Given the description of an element on the screen output the (x, y) to click on. 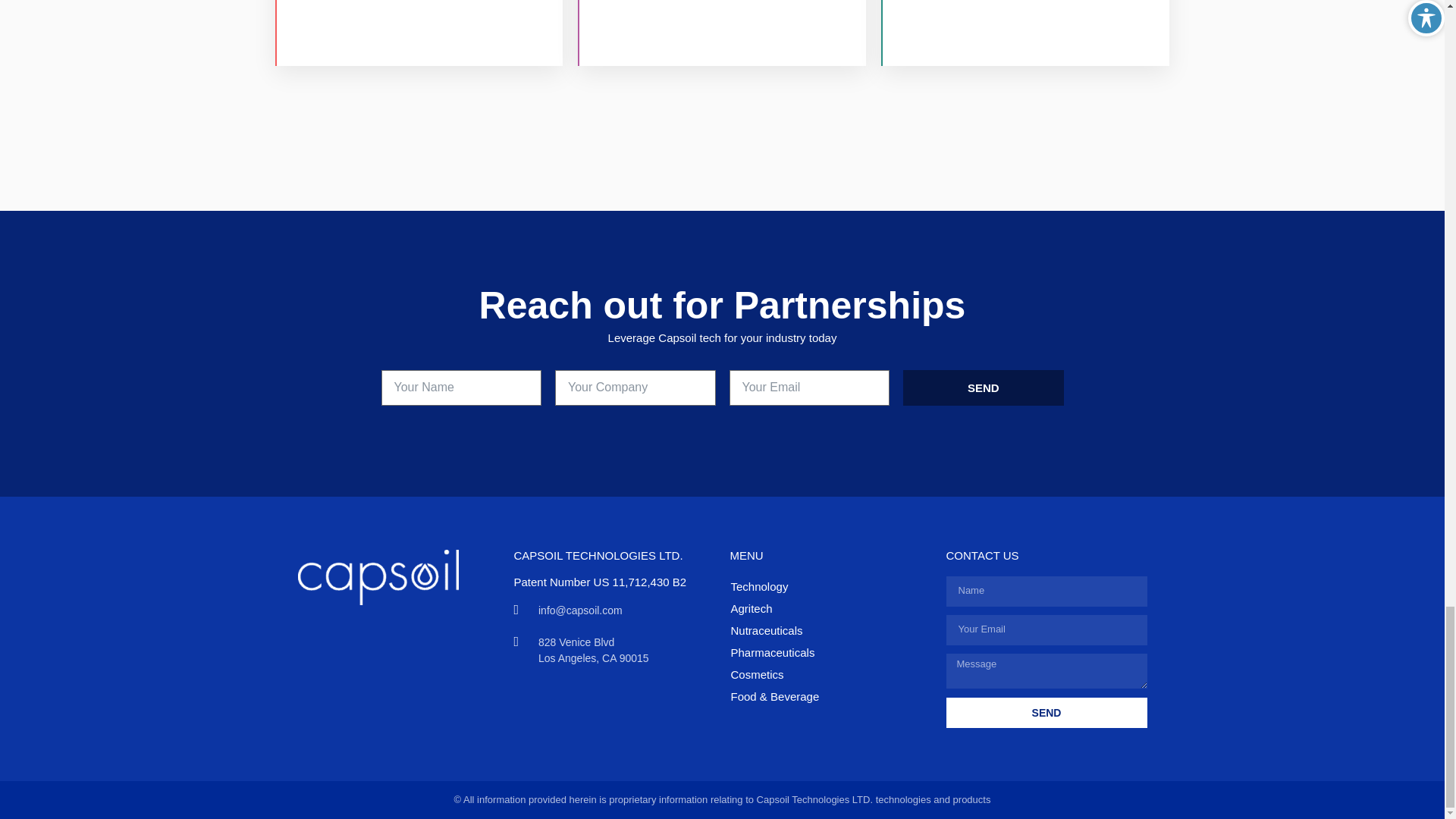
Agritech (824, 608)
Nutraceuticals (824, 630)
SEND (983, 387)
SEND (1046, 712)
Technology (824, 587)
Cosmetics (824, 675)
Pharmaceuticals (824, 653)
